Given the description of an element on the screen output the (x, y) to click on. 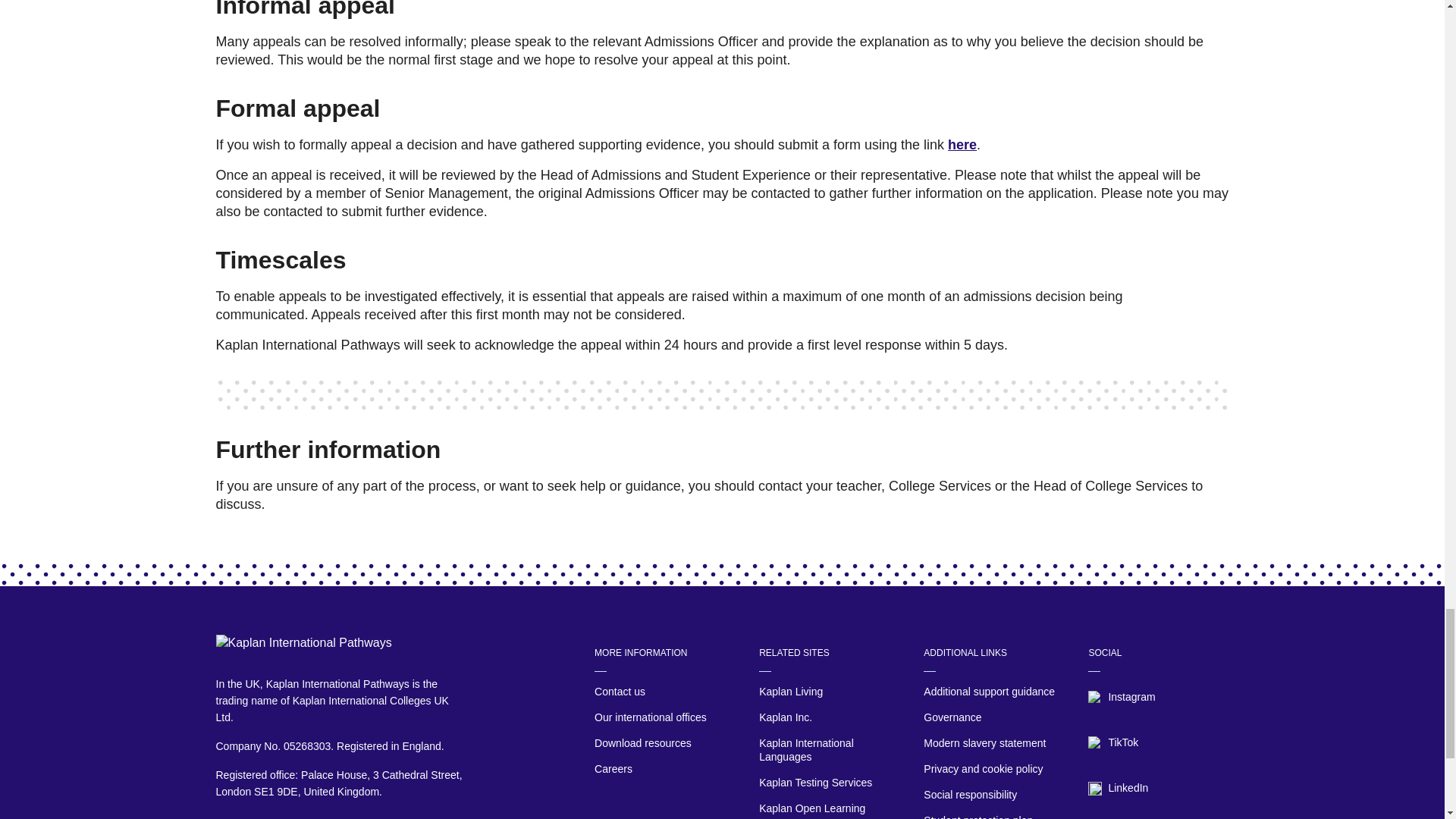
Contact us (664, 691)
Kaplan Inc. (828, 717)
Kaplan Open Learning (828, 808)
Careers (664, 769)
Download resources (664, 743)
Our international offices (664, 717)
Kaplan Testing Services (828, 783)
Kaplan Living (828, 691)
here (961, 144)
Kaplan International Languages (828, 750)
